Given the description of an element on the screen output the (x, y) to click on. 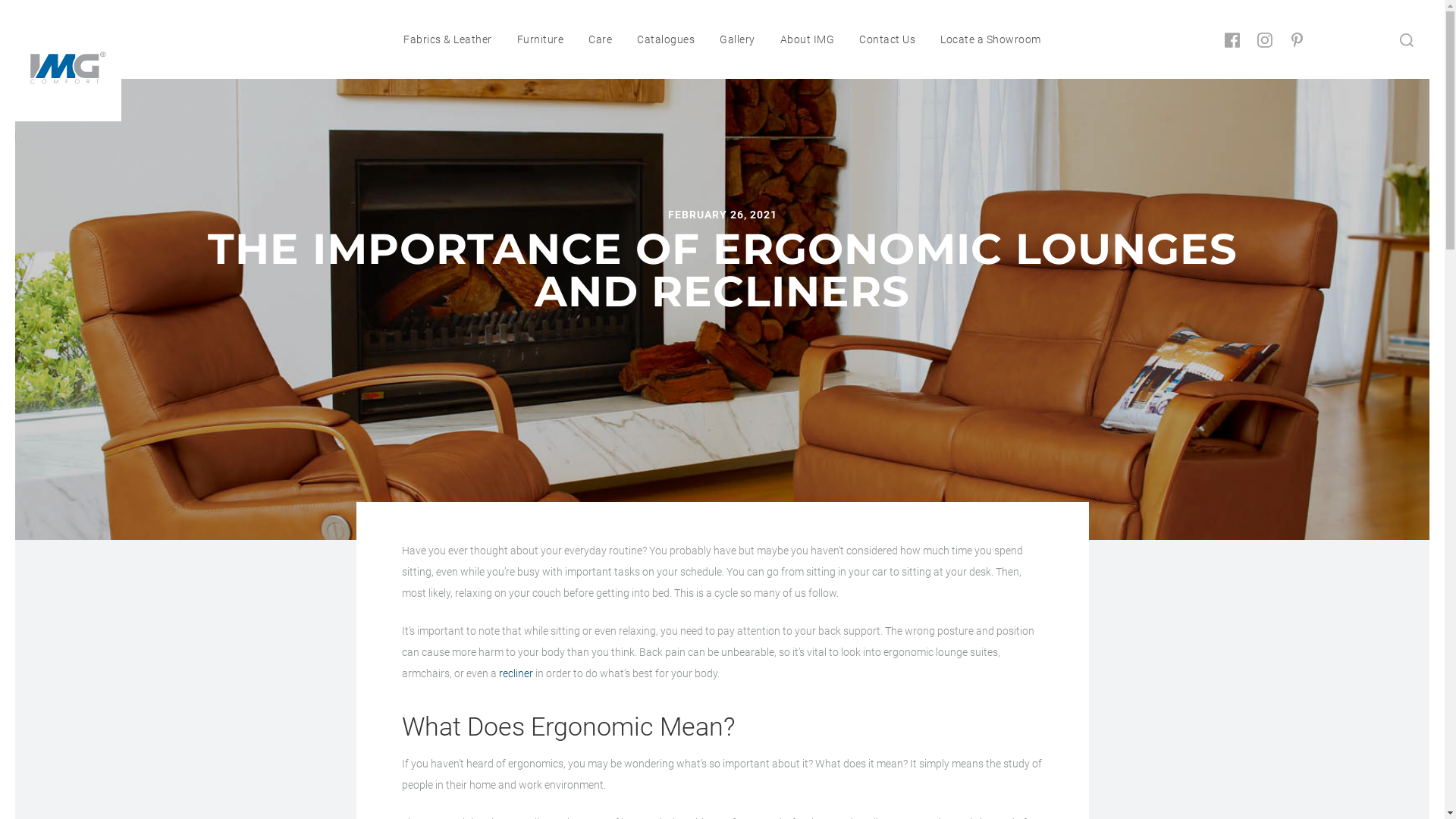
Instagram Element type: text (1264, 39)
Catalogues Element type: text (665, 39)
Pinterest Element type: text (1297, 39)
Locate a Showroom Element type: text (990, 39)
Facebook Element type: text (1231, 39)
Care Element type: text (600, 39)
recliner Element type: text (515, 673)
Contact Us Element type: text (886, 39)
Fabrics & Leather Element type: text (447, 39)
Furniture Element type: text (540, 39)
Submit Element type: text (1406, 39)
Gallery Element type: text (737, 39)
About IMG Element type: text (807, 39)
